Given the description of an element on the screen output the (x, y) to click on. 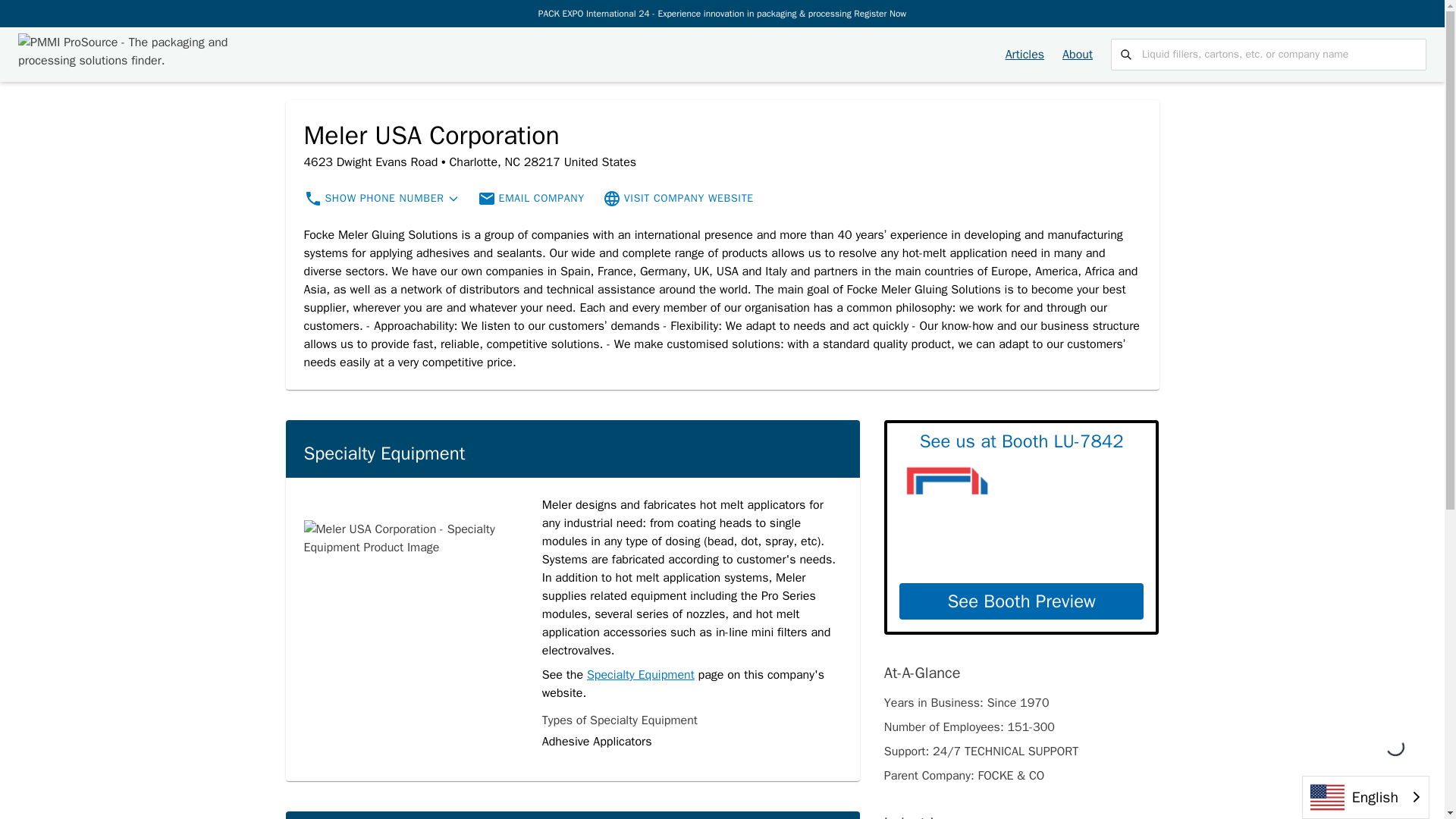
See Booth Preview (1021, 601)
About (1077, 54)
SHOW PHONE NUMBER (384, 198)
VISIT COMPANY WEBSITE (689, 198)
Specialty Equipment (640, 674)
English (1365, 797)
EMAIL COMPANY (542, 198)
Articles (1024, 54)
